Given the description of an element on the screen output the (x, y) to click on. 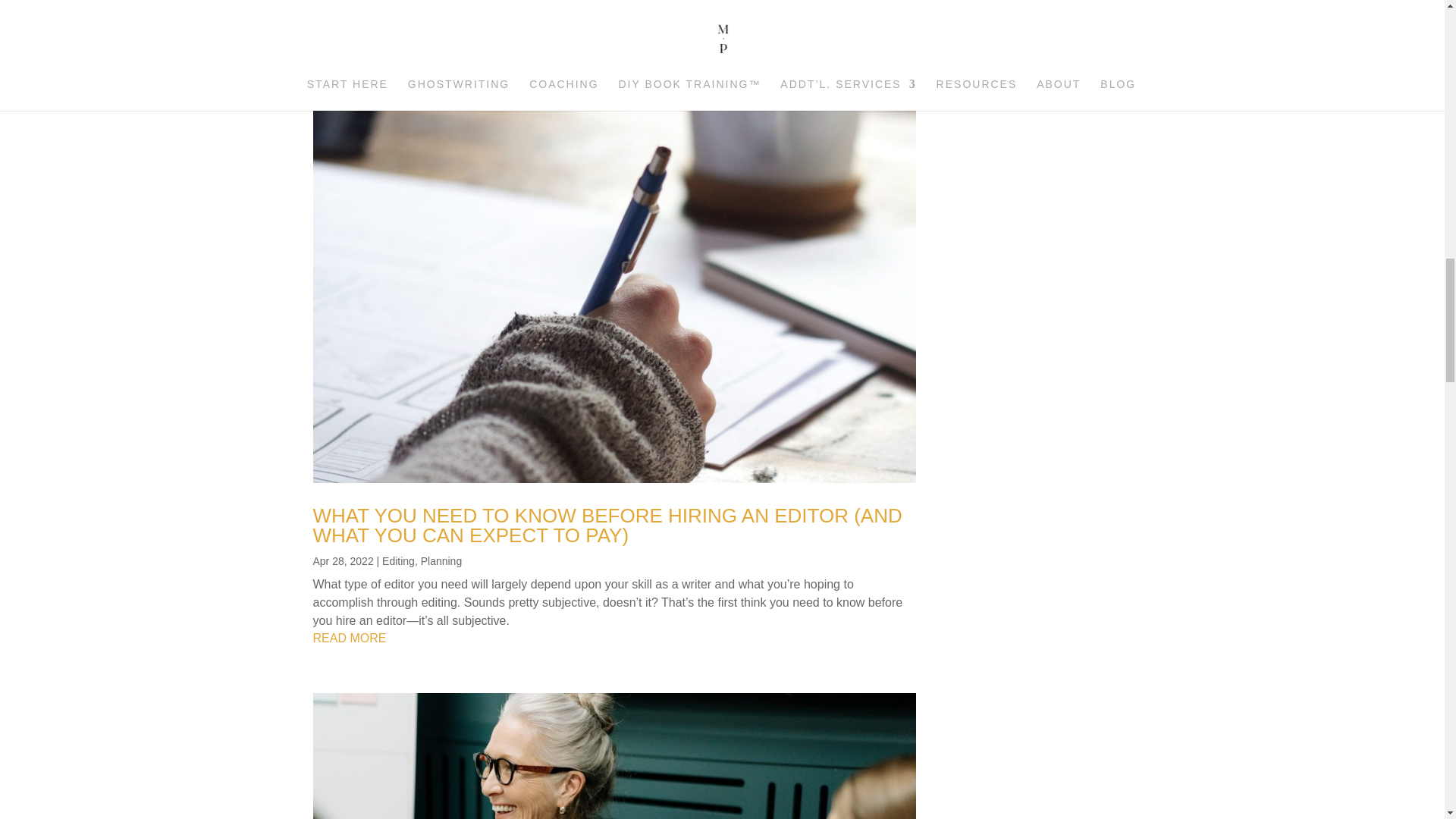
READ MORE (614, 51)
Editing (397, 561)
